Given the description of an element on the screen output the (x, y) to click on. 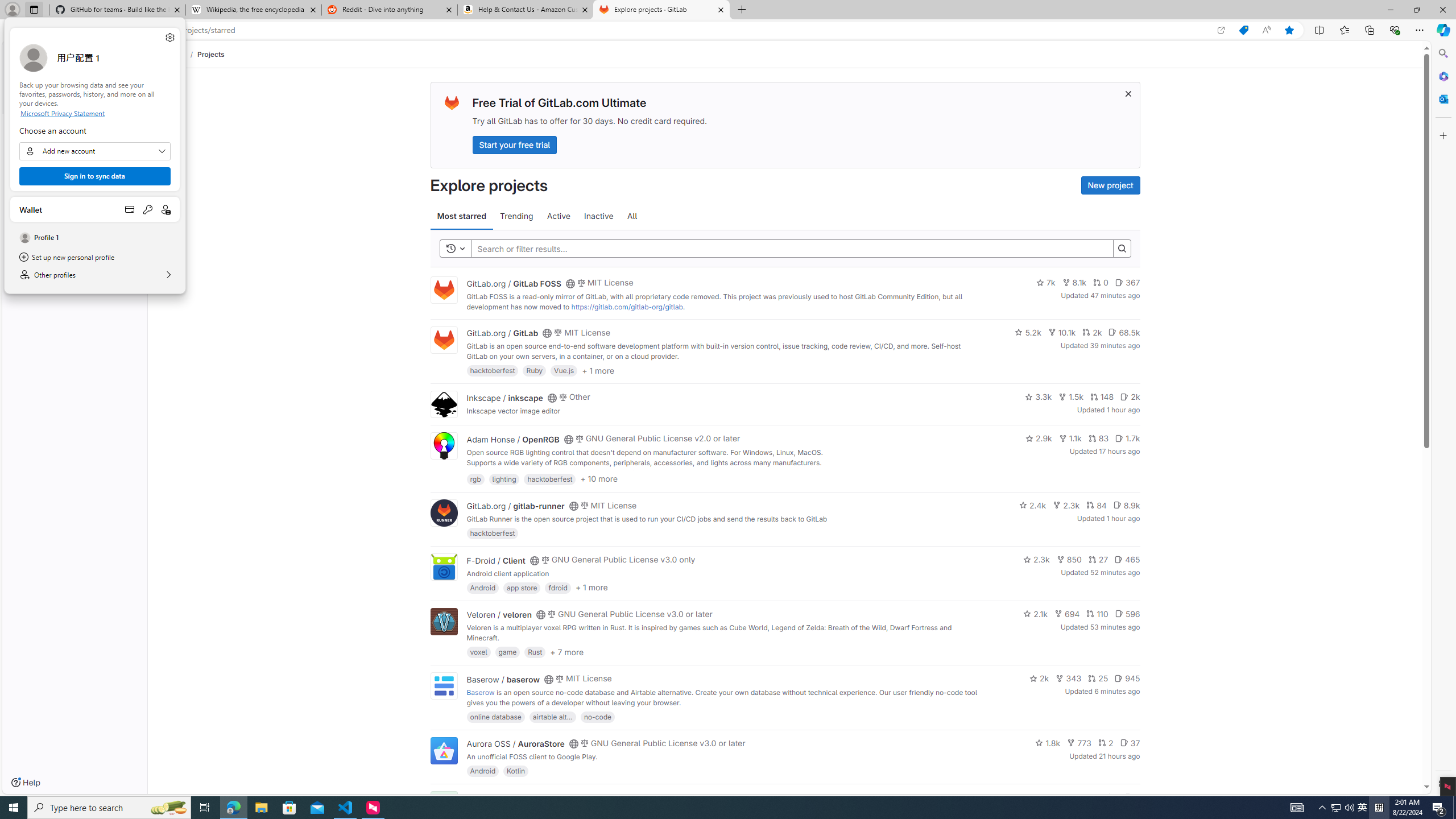
5.2k (1027, 331)
Toggle history (455, 248)
Baserow / baserow (502, 678)
Start your free trial (514, 144)
airtable alt... (552, 715)
1.8k (1048, 742)
2.9k (1038, 438)
lighting (504, 478)
rgb (475, 478)
AutomationID: 4105 (1335, 807)
